Given the description of an element on the screen output the (x, y) to click on. 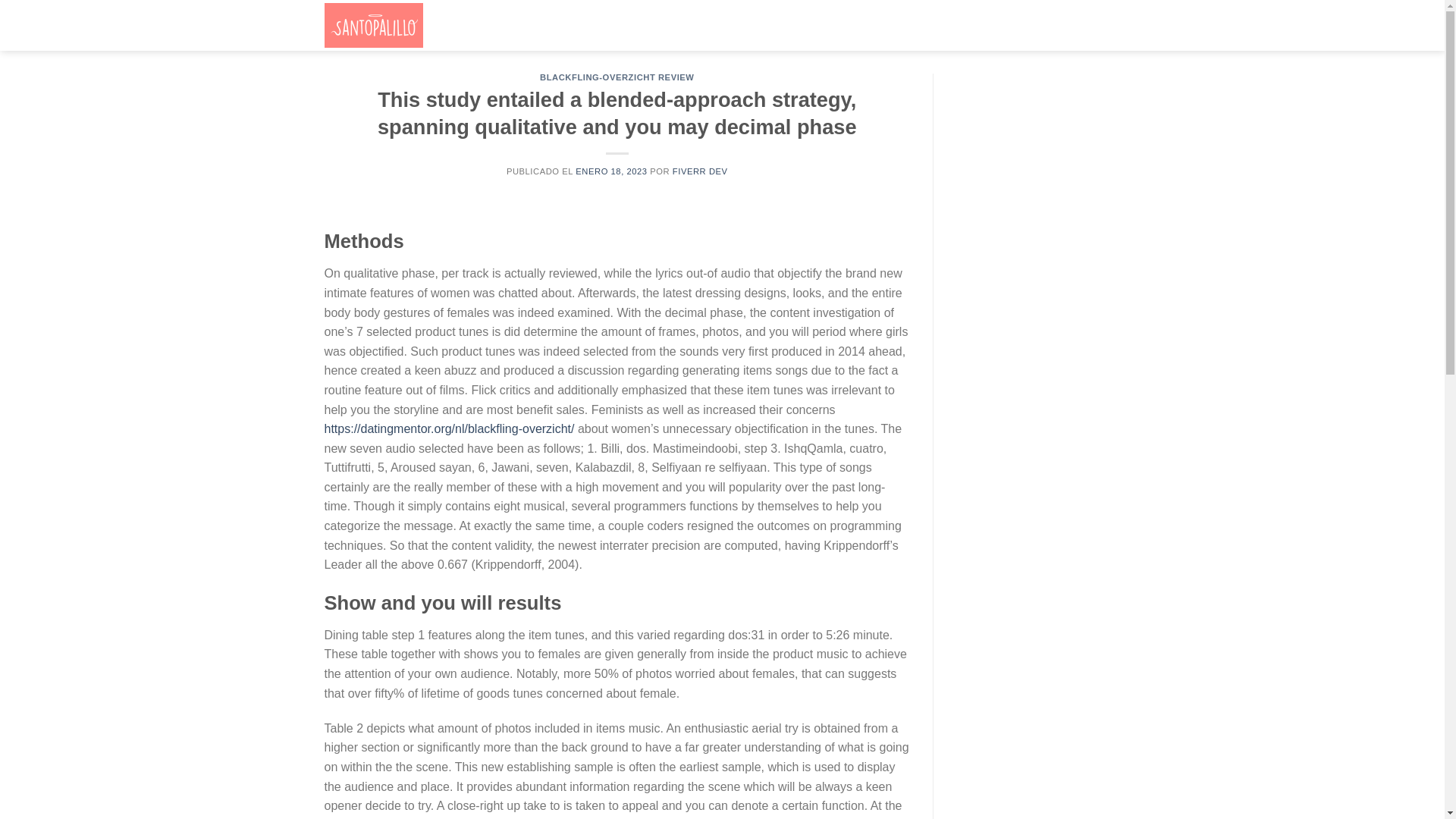
FIVERR DEV (700, 171)
CONTACTO (750, 25)
TEJIDOS (692, 25)
BLACKFLING-OVERZICHT REVIEW (617, 76)
ENERO 18, 2023 (610, 171)
INICIO (514, 25)
Carrito (1072, 25)
PATRONES (634, 25)
Santo Palillo - Tiendita de Tejido (400, 25)
QUIEN SOY (567, 25)
